Given the description of an element on the screen output the (x, y) to click on. 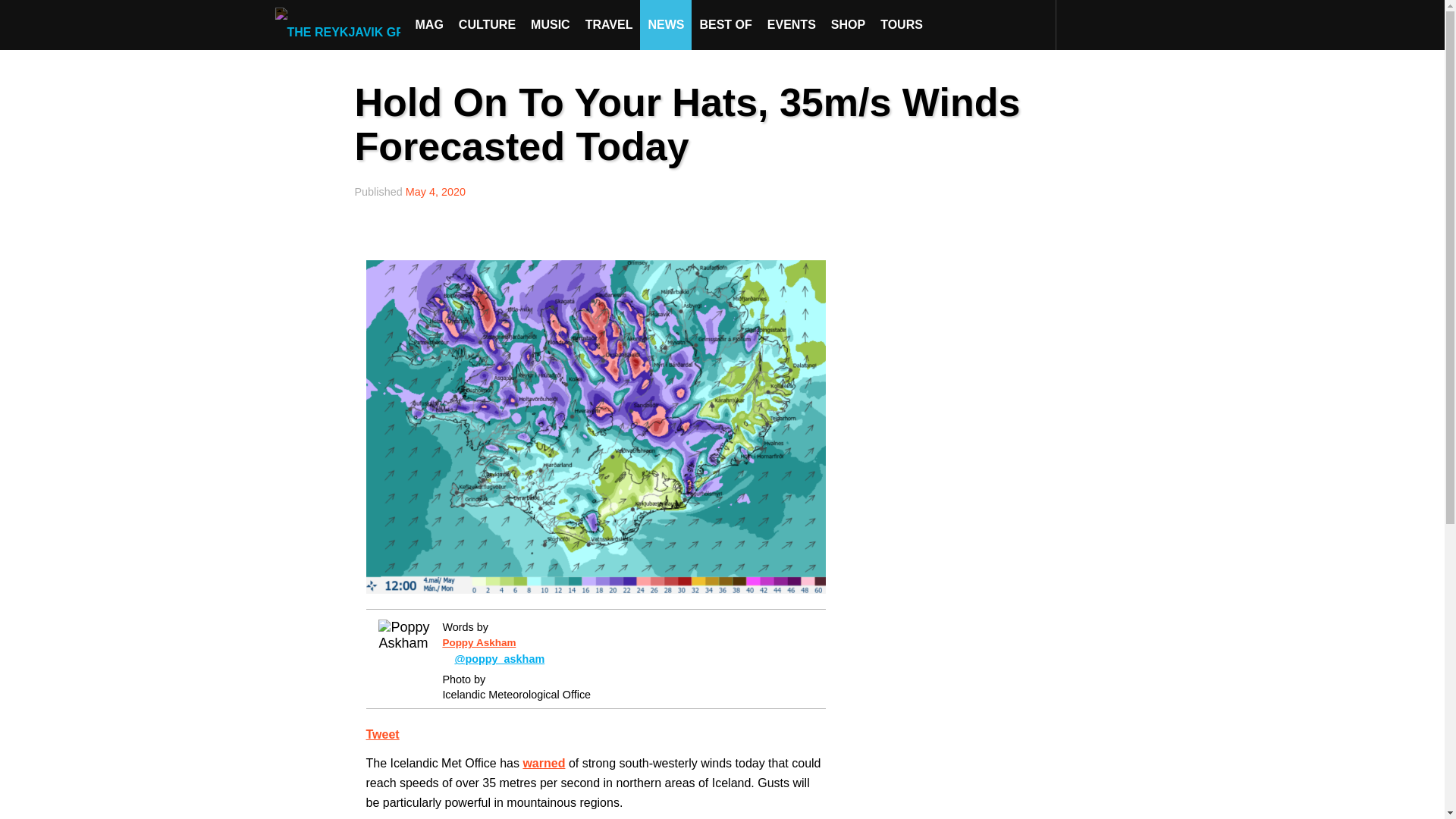
The Reykjavik Grapevine (341, 24)
Posts by Poppy Askham (478, 642)
TRAVEL (609, 24)
CULTURE (486, 24)
Tweet (381, 734)
TOURS (901, 24)
SHOP (848, 24)
Poppy Askham (478, 642)
NEWS (665, 24)
BEST OF (724, 24)
EVENTS (792, 24)
warned (543, 762)
MUSIC (550, 24)
